Given the description of an element on the screen output the (x, y) to click on. 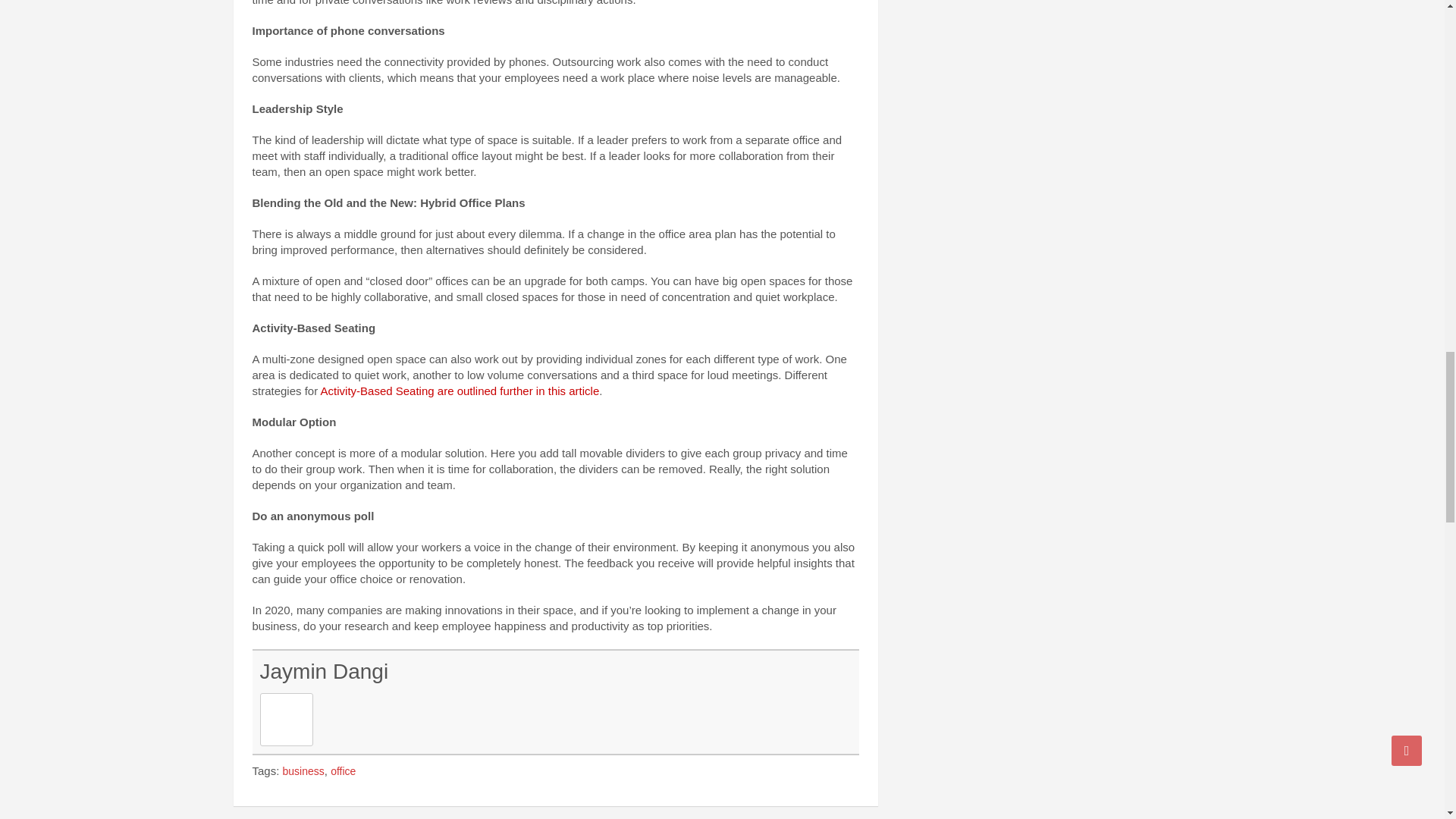
Jaymin Dangi (323, 671)
All posts by Jaymin Dangi (323, 671)
Activity-Based Seating are outlined further in this article (459, 390)
